Given the description of an element on the screen output the (x, y) to click on. 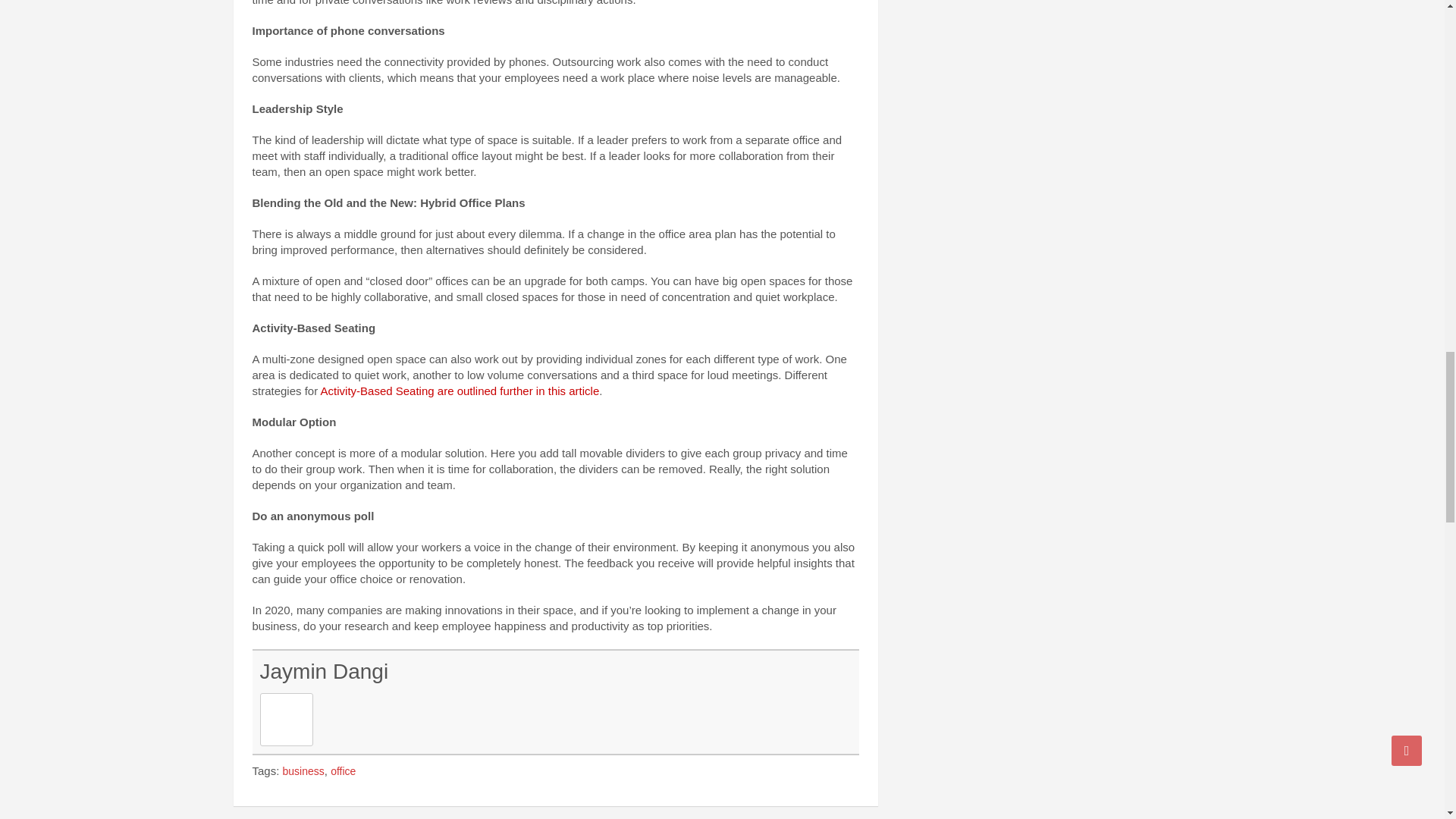
Jaymin Dangi (323, 671)
All posts by Jaymin Dangi (323, 671)
Activity-Based Seating are outlined further in this article (459, 390)
